Given the description of an element on the screen output the (x, y) to click on. 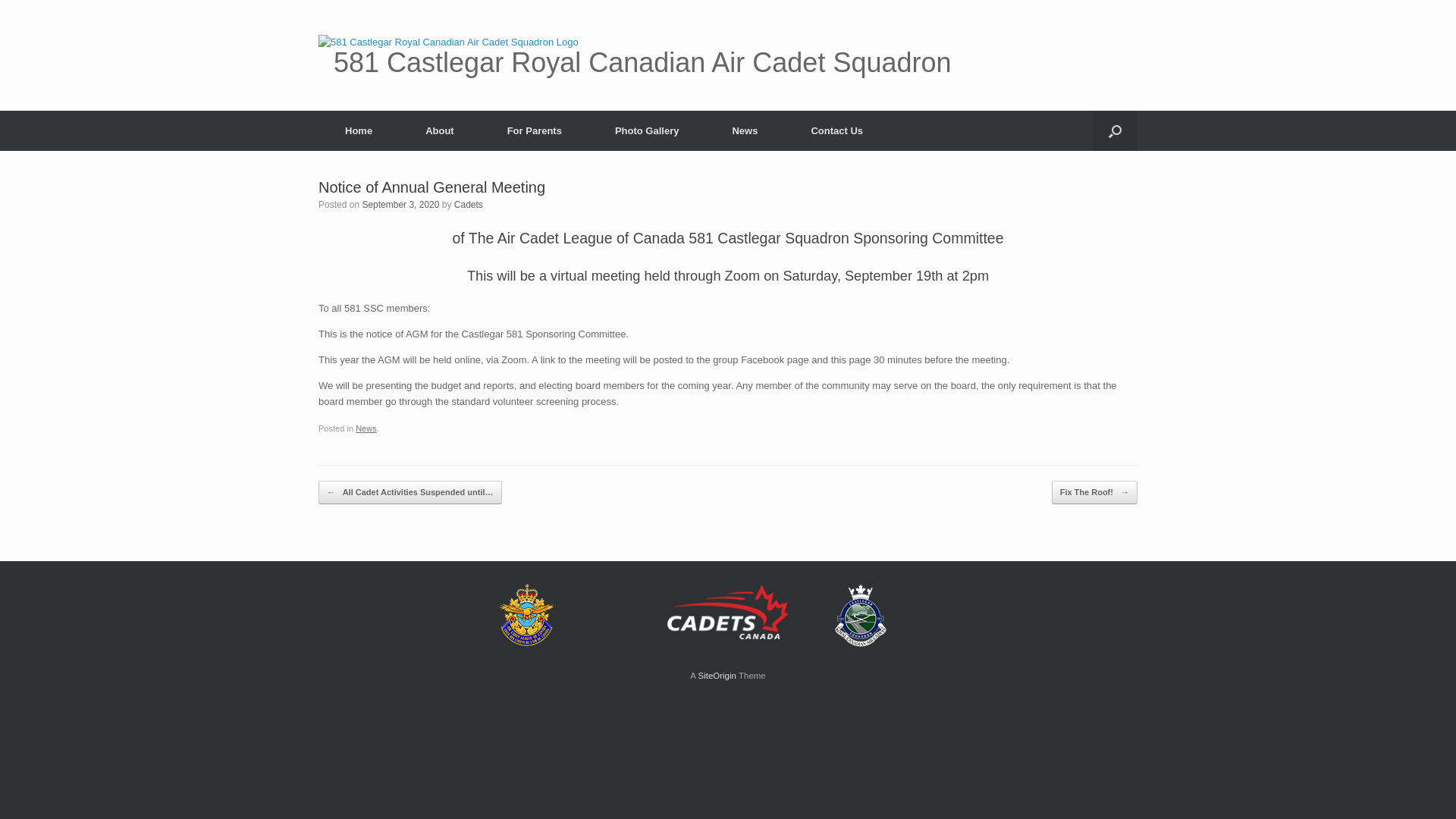
Cadets Element type: text (468, 204)
September 3, 2020 Element type: text (400, 204)
News Element type: text (365, 428)
News Element type: text (744, 130)
About Element type: text (439, 130)
SiteOrigin Element type: text (716, 675)
For Parents Element type: text (534, 130)
Home Element type: text (358, 130)
Castlegar Air Cadets Element type: hover (860, 614)
581 Castlegar Royal Canadian Air Cadet Squadron Element type: text (727, 55)
Photo Gallery Element type: text (647, 130)
Contact Us Element type: text (836, 130)
Air Cadet League of Canada Element type: hover (526, 614)
Cadets Canada Element type: hover (727, 611)
